Given the description of an element on the screen output the (x, y) to click on. 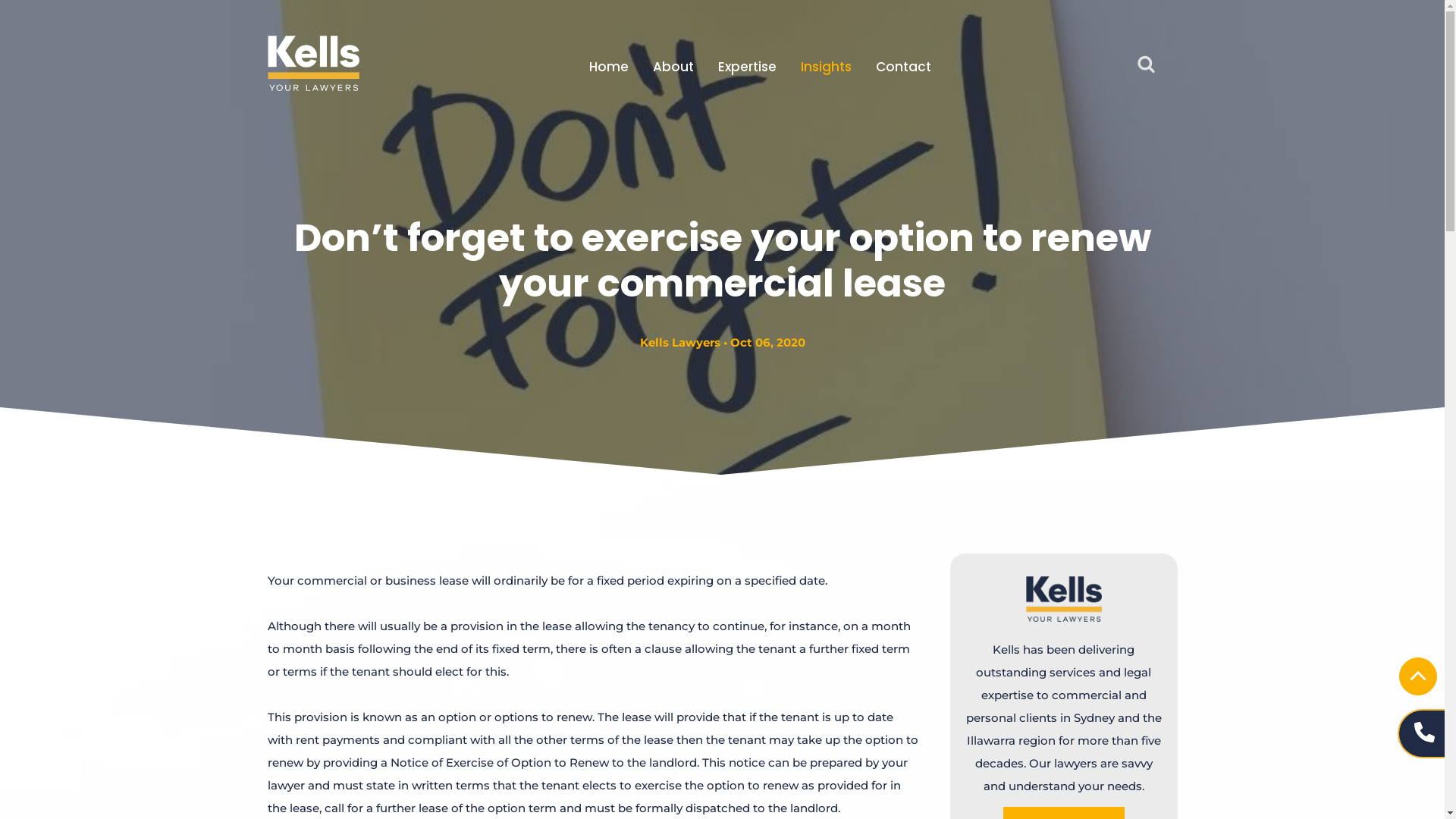
About Element type: text (673, 66)
Home Element type: text (608, 66)
Expertise Element type: text (747, 66)
Contact Element type: text (903, 66)
Insights Element type: text (826, 66)
